Given the description of an element on the screen output the (x, y) to click on. 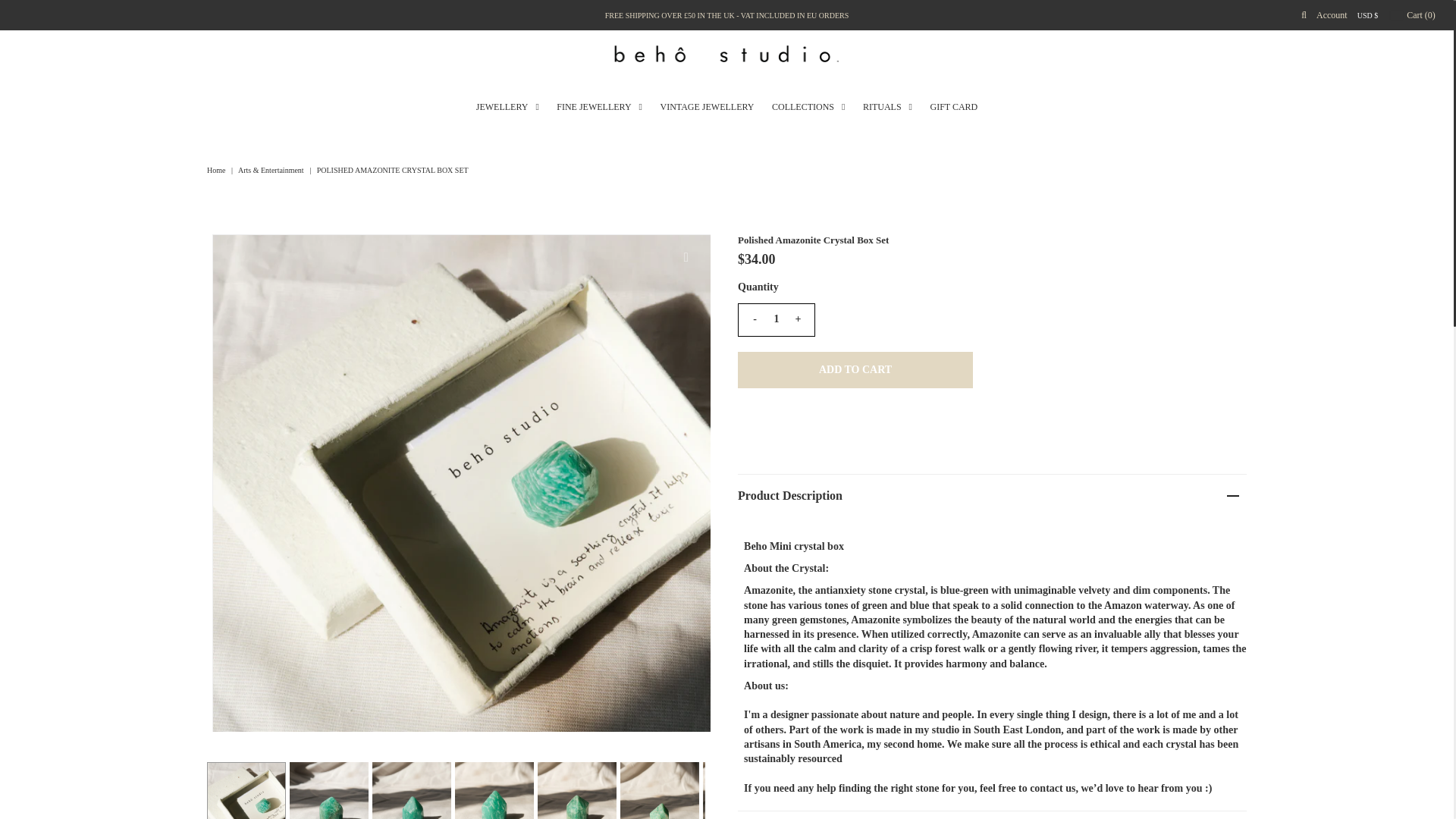
click to zoom-in (686, 257)
Home (217, 169)
Add to Cart (855, 370)
